Given the description of an element on the screen output the (x, y) to click on. 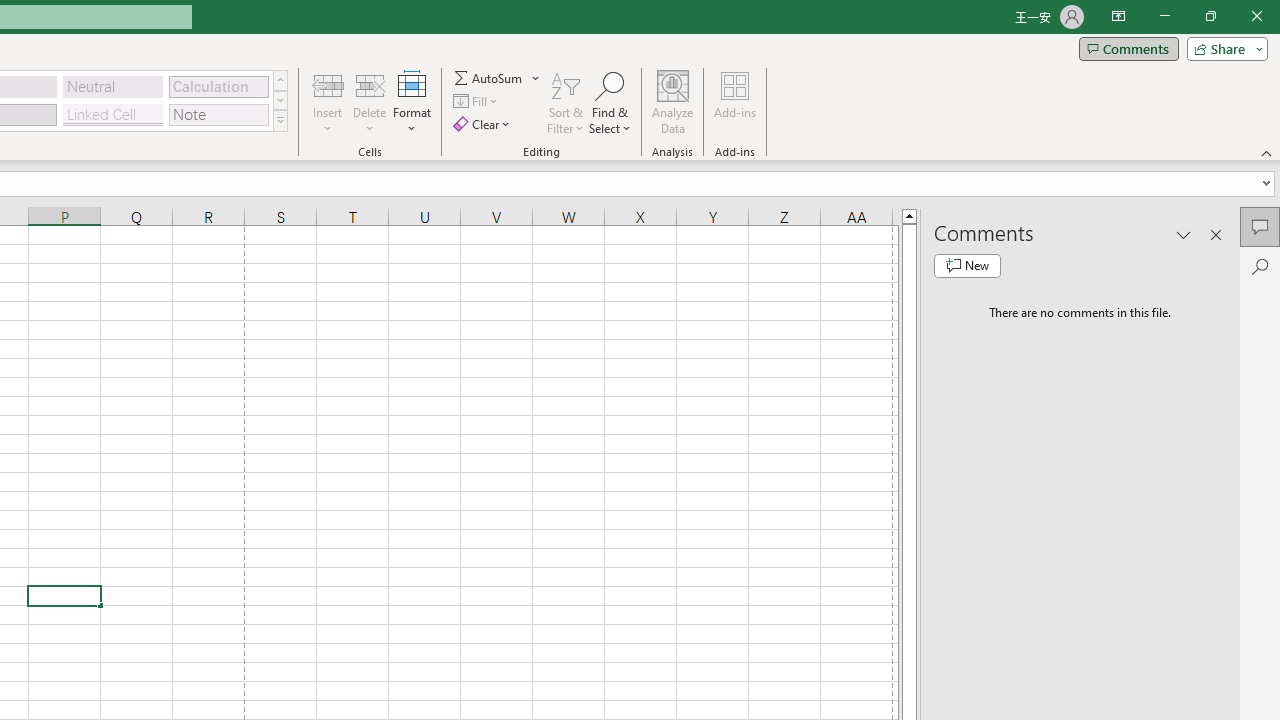
Delete (369, 102)
Insert Cells (328, 84)
Search (1260, 266)
New comment (967, 265)
Linked Cell (113, 114)
Cell Styles (280, 120)
